Given the description of an element on the screen output the (x, y) to click on. 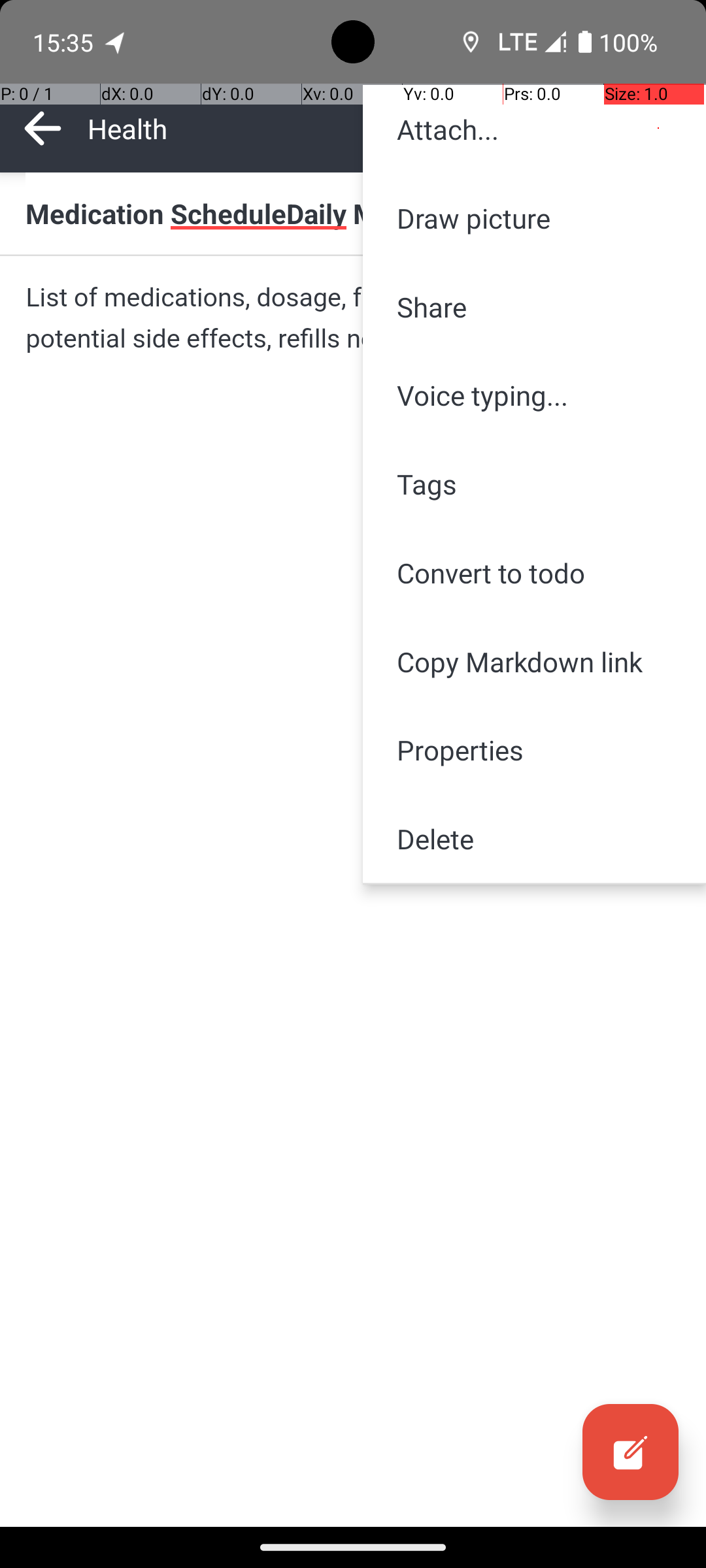
Medication ScheduleDaily Medication Reminder Element type: android.widget.EditText (352, 213)
Attach... Element type: android.widget.TextView (534, 129)
Draw picture Element type: android.widget.TextView (534, 217)
Voice typing... Element type: android.widget.TextView (534, 395)
Convert to todo Element type: android.widget.TextView (534, 572)
Copy Markdown link Element type: android.widget.TextView (534, 661)
Properties Element type: android.widget.TextView (534, 749)
List of medications, dosage, frequency, time to take, potential side effects, refills needed. Element type: android.widget.TextView (352, 317)
